Given the description of an element on the screen output the (x, y) to click on. 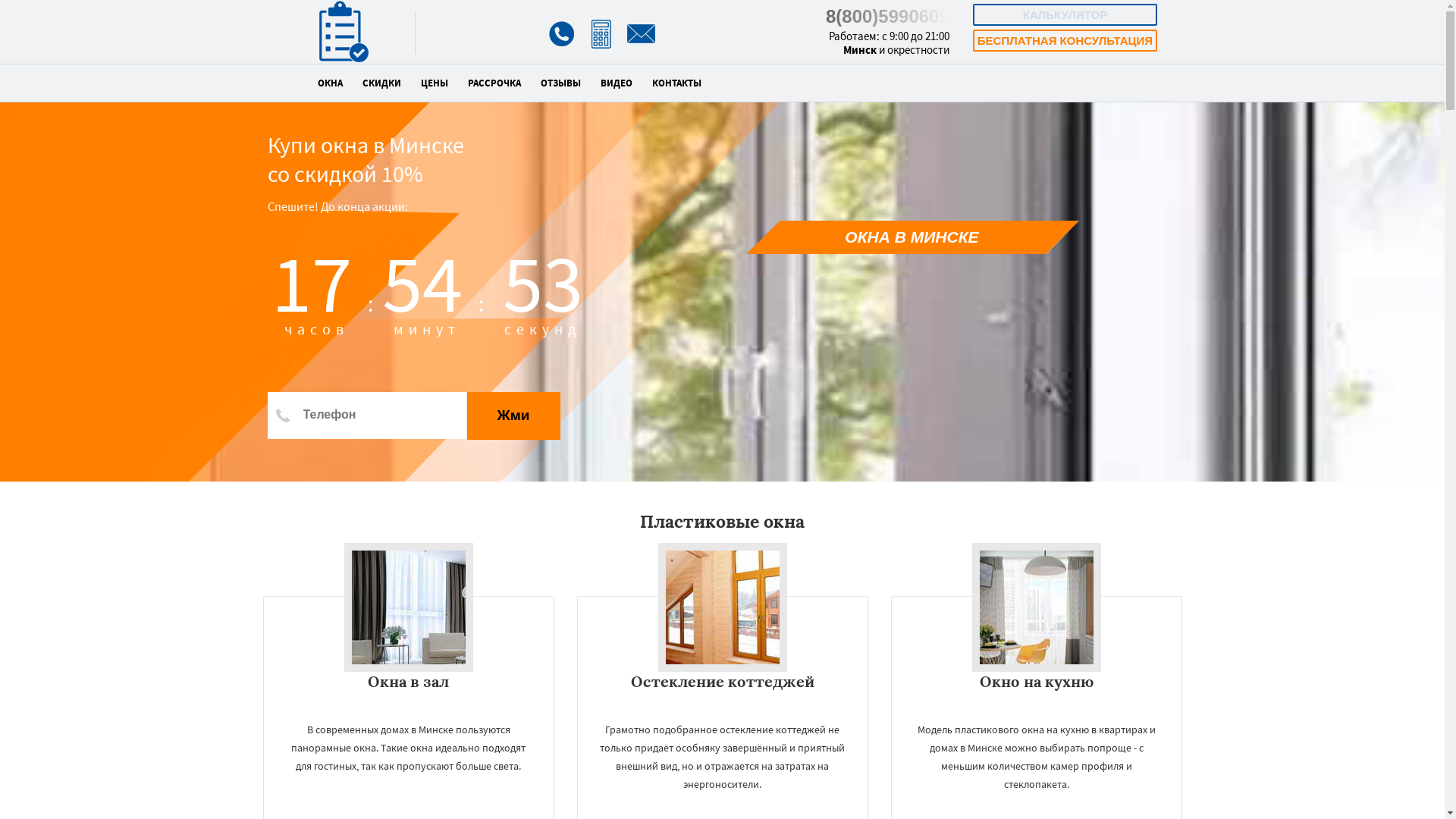
8(800)5990609 Element type: text (887, 16)
